Given the description of an element on the screen output the (x, y) to click on. 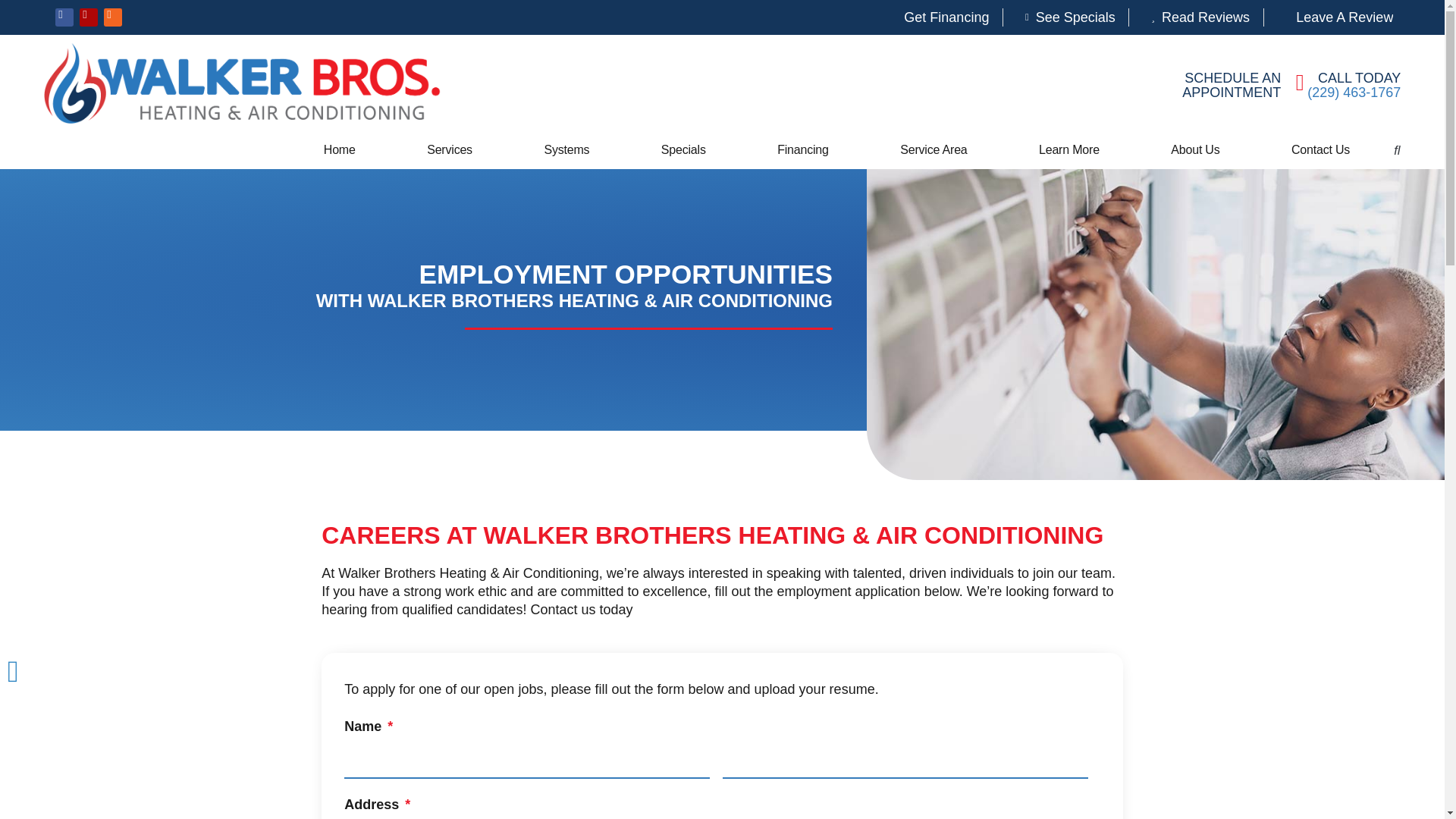
CALL TODAY (1358, 77)
Get Financing (936, 17)
Home (339, 149)
Service Area (933, 149)
Specials (683, 149)
Systems (566, 149)
Learn More (1069, 149)
SCHEDULE AN (1233, 77)
Read Reviews (1195, 17)
See Specials (1065, 17)
Financing (802, 149)
Leave A Review (1334, 17)
About Us (1195, 149)
Services (449, 149)
